Given the description of an element on the screen output the (x, y) to click on. 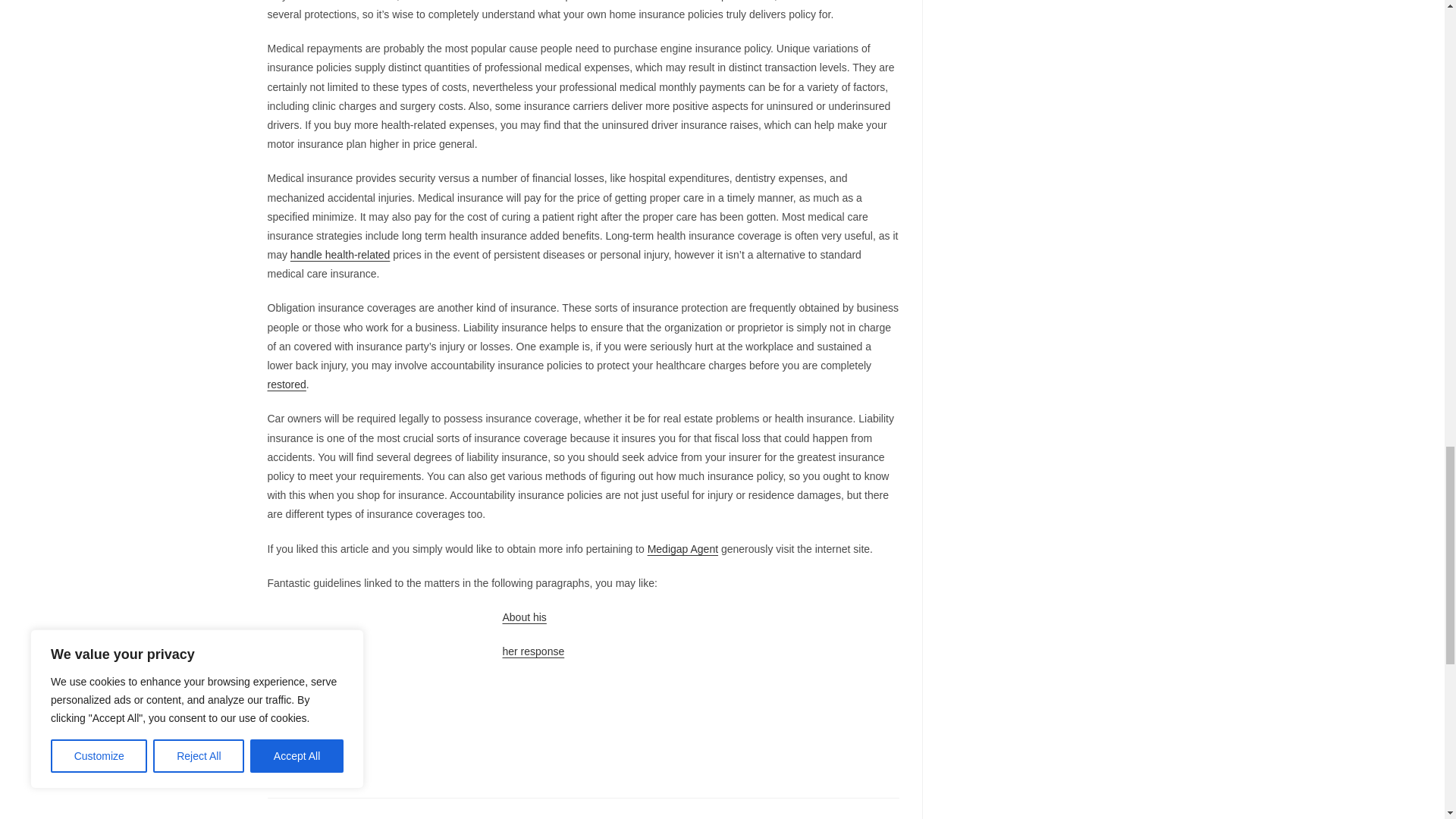
her response (533, 651)
handle health-related (339, 254)
About his (524, 616)
MEDIA (308, 766)
restored (285, 384)
Medigap Agent (682, 548)
